Given the description of an element on the screen output the (x, y) to click on. 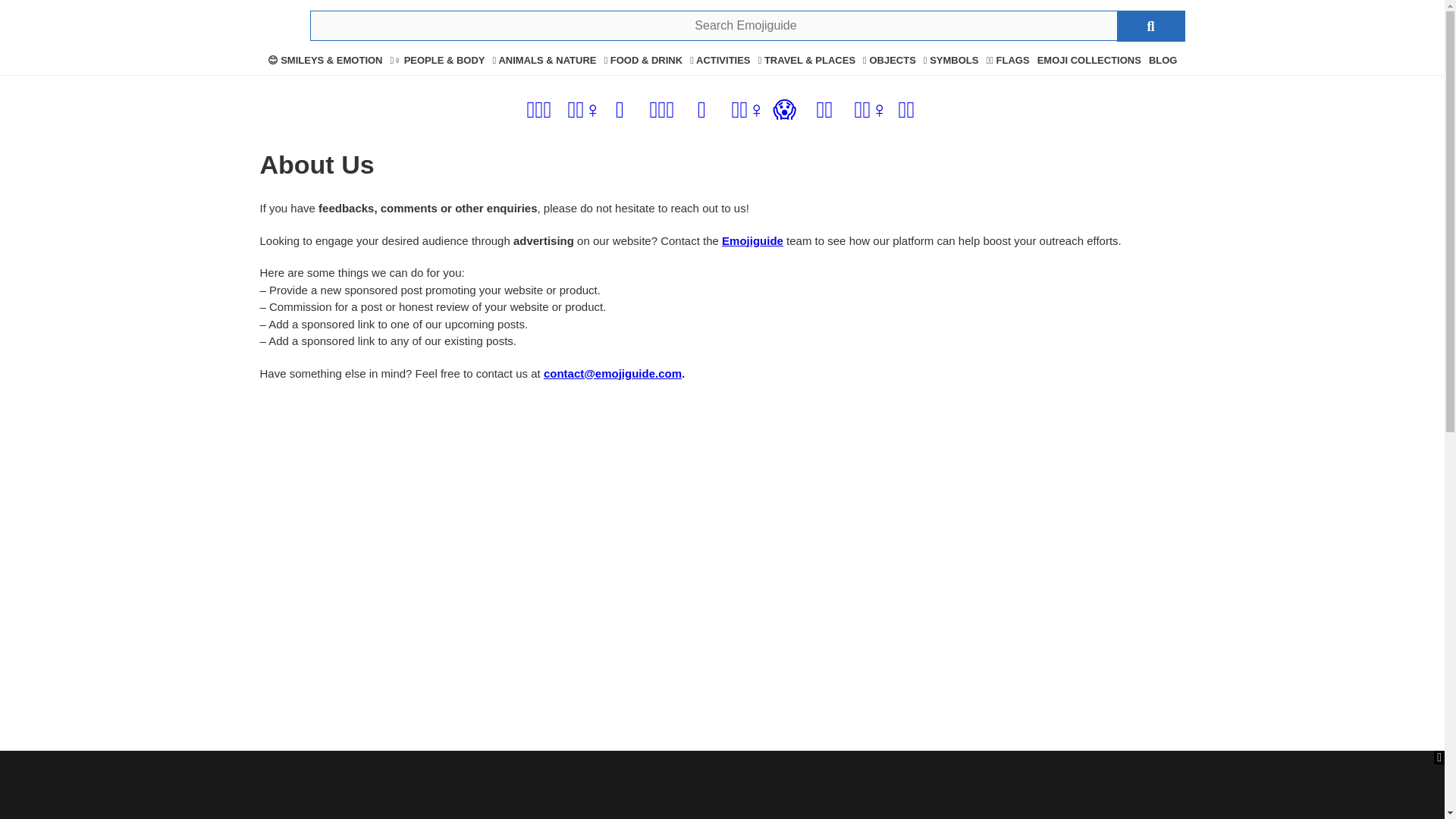
Emojiguide (752, 239)
woman: medium skin tone, bald (538, 113)
EMOJI COLLECTIONS (1088, 60)
logo (275, 27)
woman and man holding hands: medium skin tone (906, 113)
BLOG (1162, 60)
woman swimming: medium skin tone (583, 113)
woman supervillain: light skin tone (747, 113)
woman singer: medium-dark skin tone (661, 113)
woman juggling: light skin tone (869, 113)
